Given the description of an element on the screen output the (x, y) to click on. 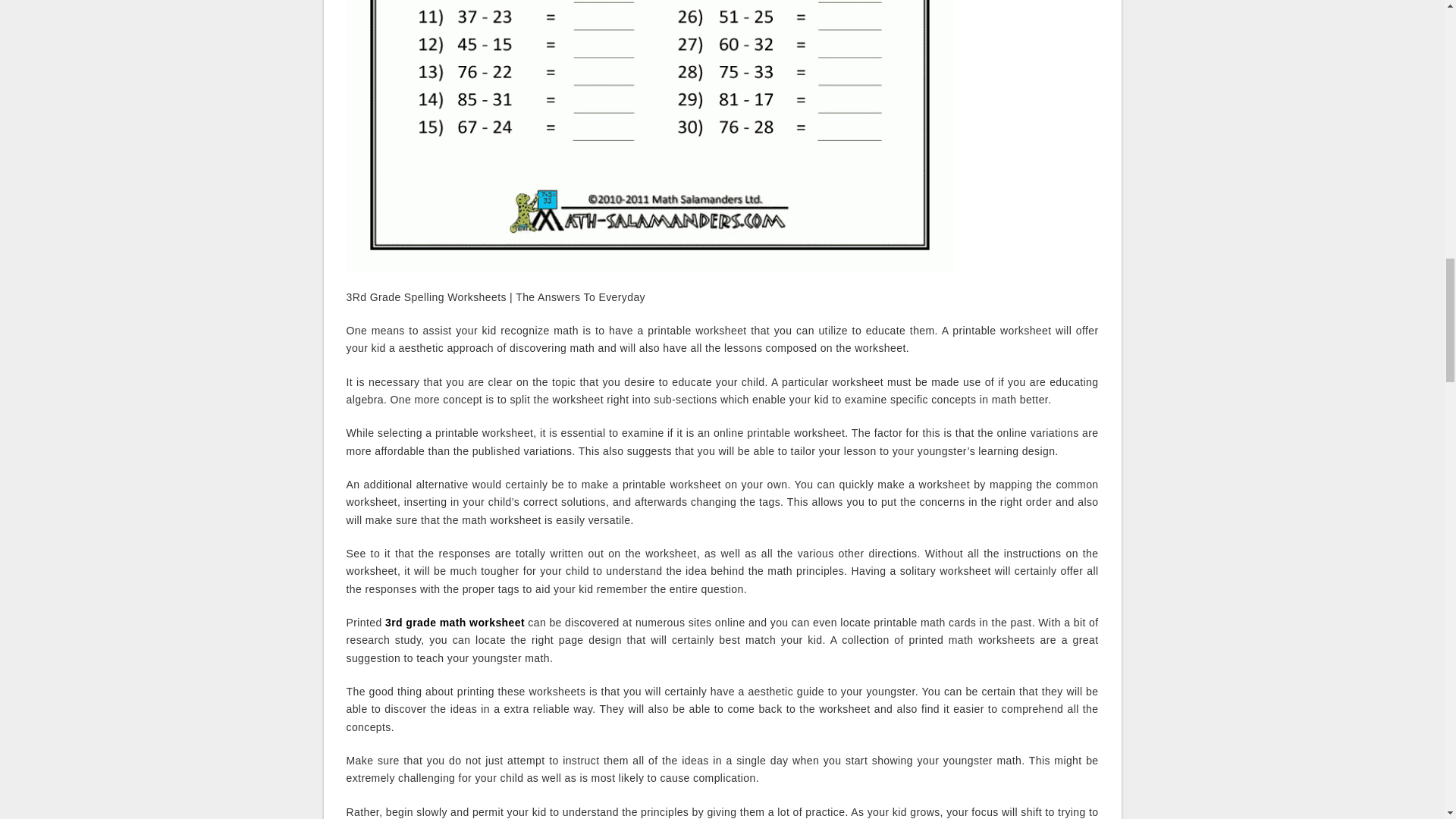
3rd grade math worksheet (454, 622)
